Given the description of an element on the screen output the (x, y) to click on. 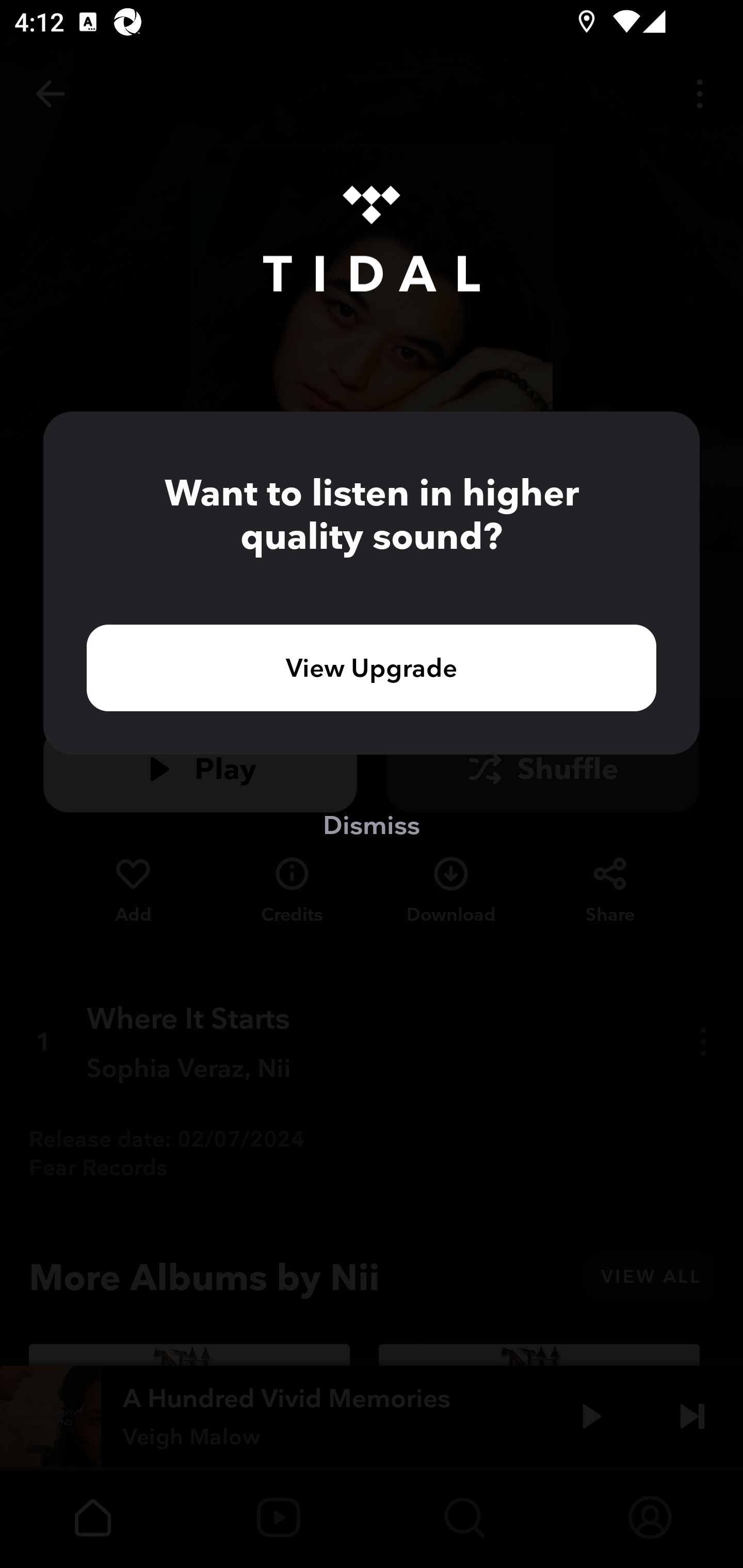
View Upgrade (371, 667)
Dismiss (371, 824)
